Given the description of an element on the screen output the (x, y) to click on. 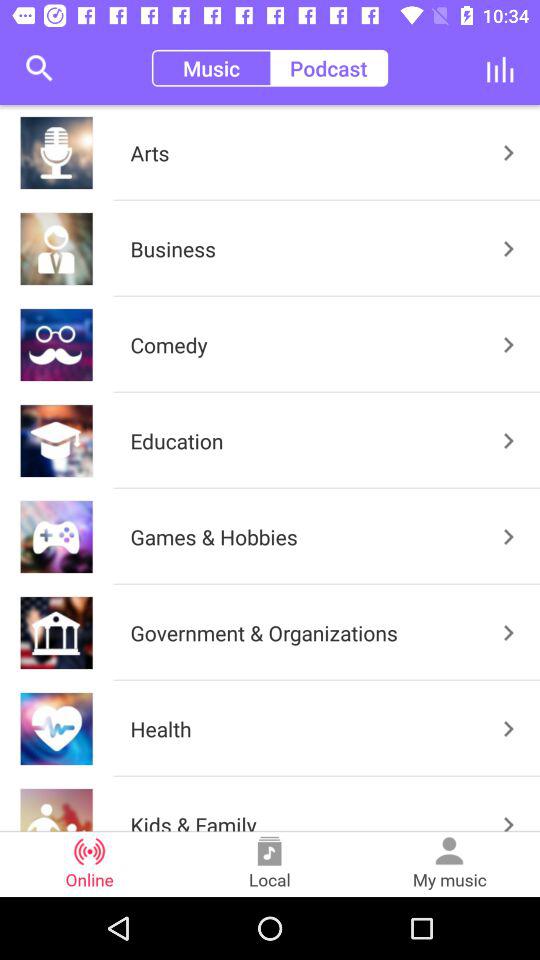
click online item (90, 863)
